Given the description of an element on the screen output the (x, y) to click on. 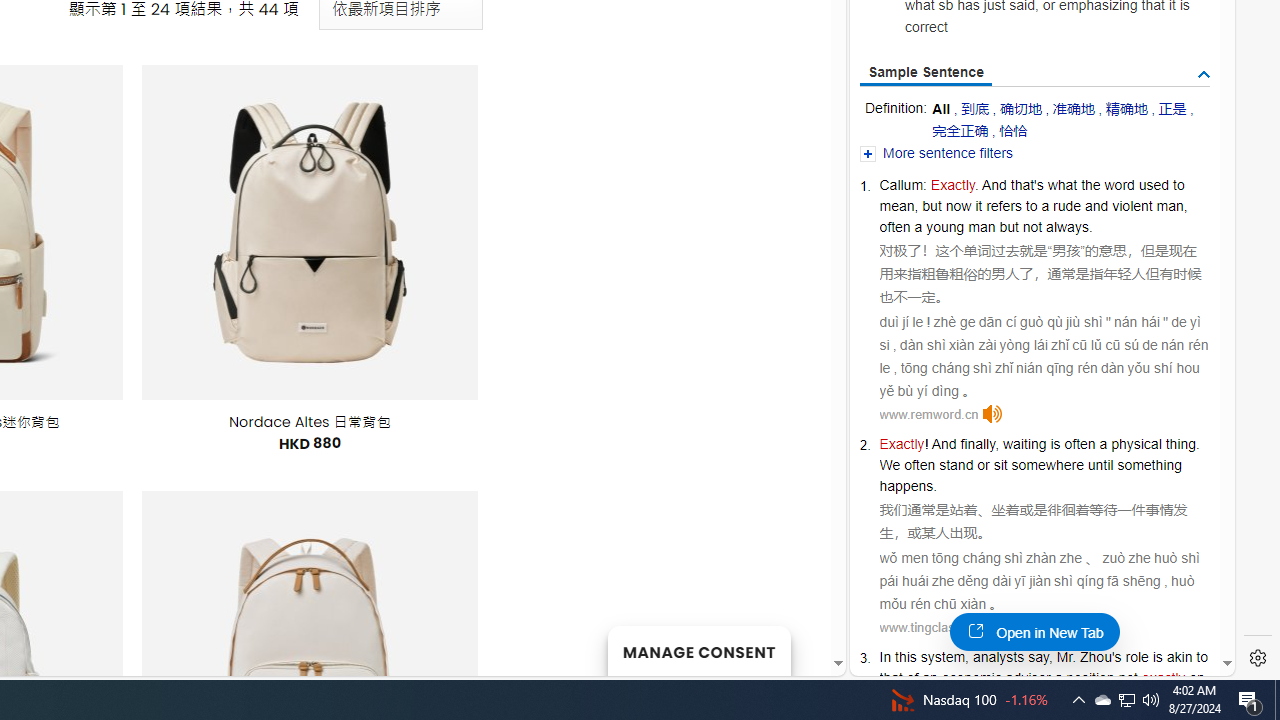
waiting (1024, 444)
mean (897, 205)
of (912, 678)
happens (906, 485)
this (905, 656)
